Given the description of an element on the screen output the (x, y) to click on. 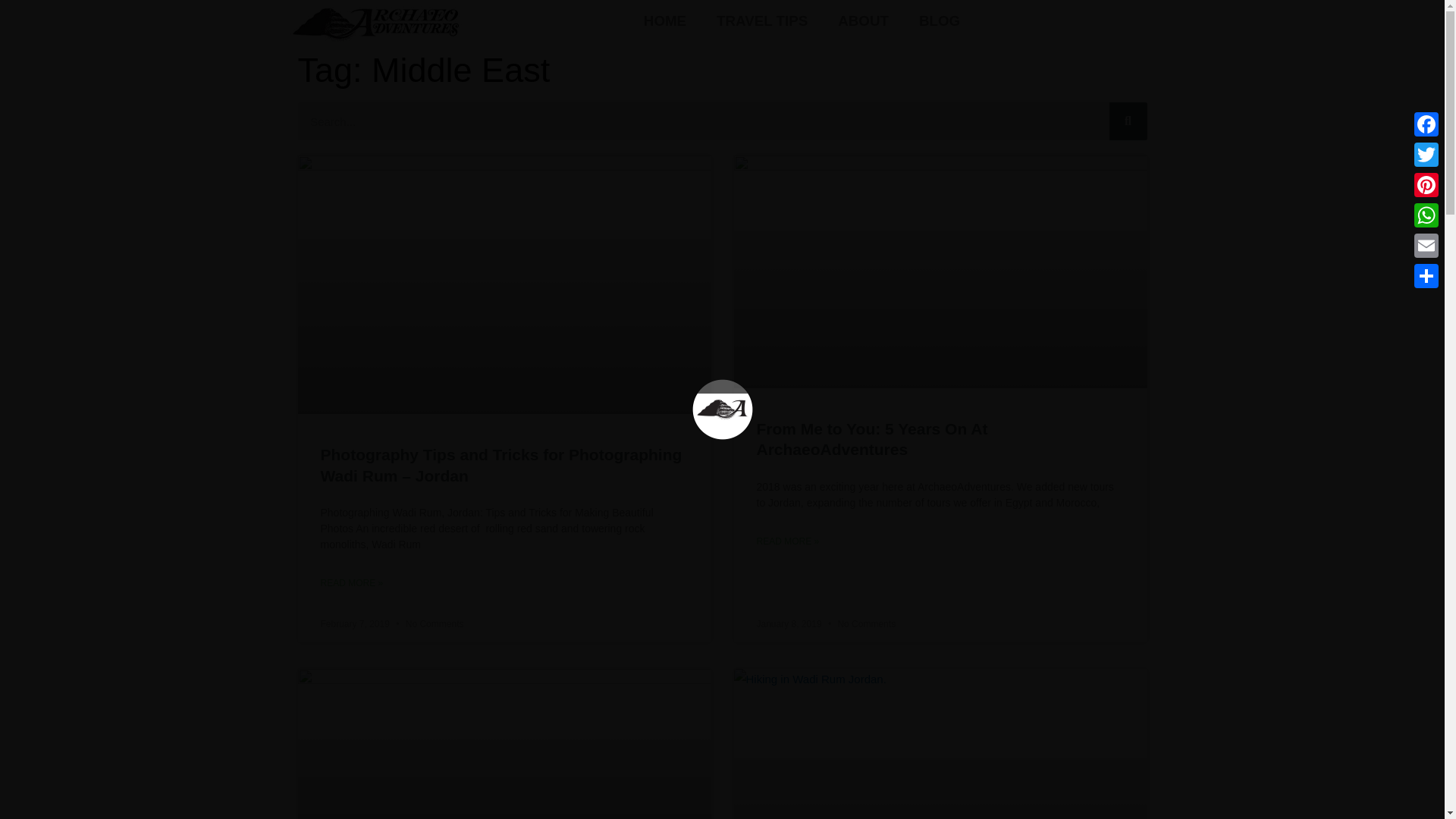
WhatsApp (1425, 214)
Email (1425, 245)
ABOUT (863, 21)
Facebook (1425, 123)
TRAVEL TIPS (761, 21)
Search (1127, 121)
From Me to You: 5 Years On At ArchaeoAdventures (872, 438)
HOME (664, 21)
BLOG (939, 21)
Search (702, 121)
Twitter (1425, 154)
Pinterest (1425, 184)
